Given the description of an element on the screen output the (x, y) to click on. 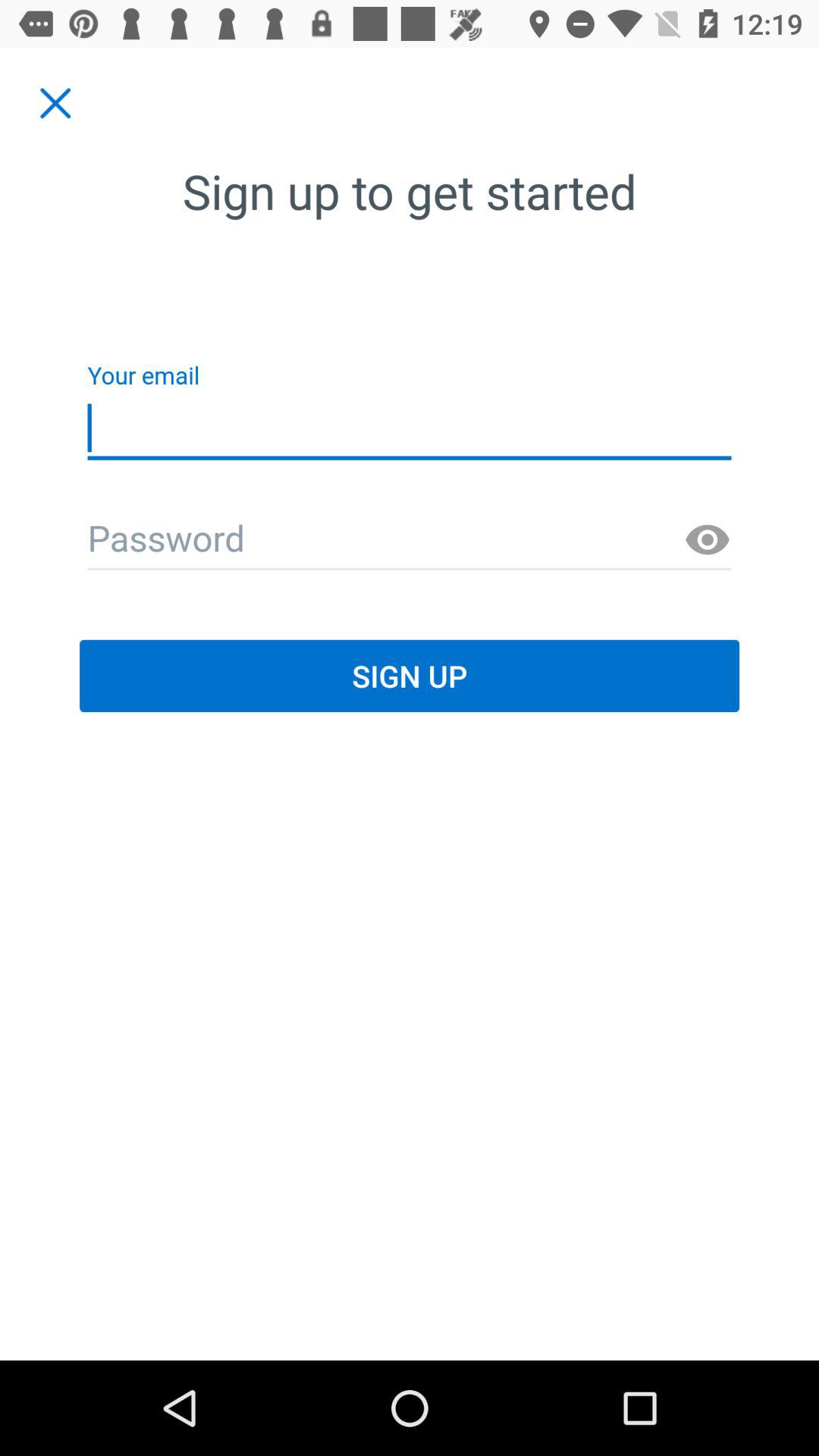
go to email (409, 540)
